Given the description of an element on the screen output the (x, y) to click on. 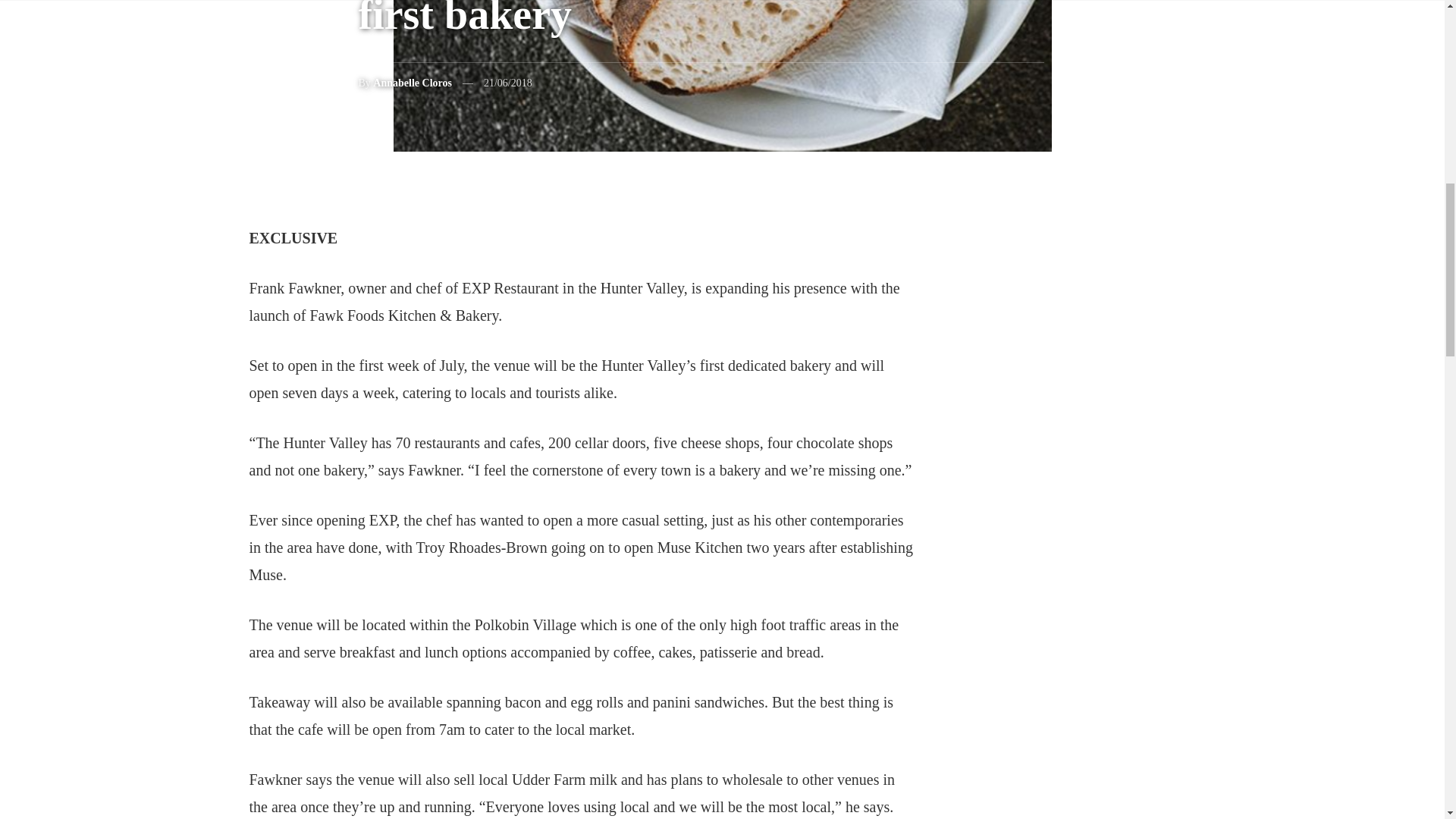
3rd party ad content (1100, 767)
Annabelle Cloros (411, 82)
